Given the description of an element on the screen output the (x, y) to click on. 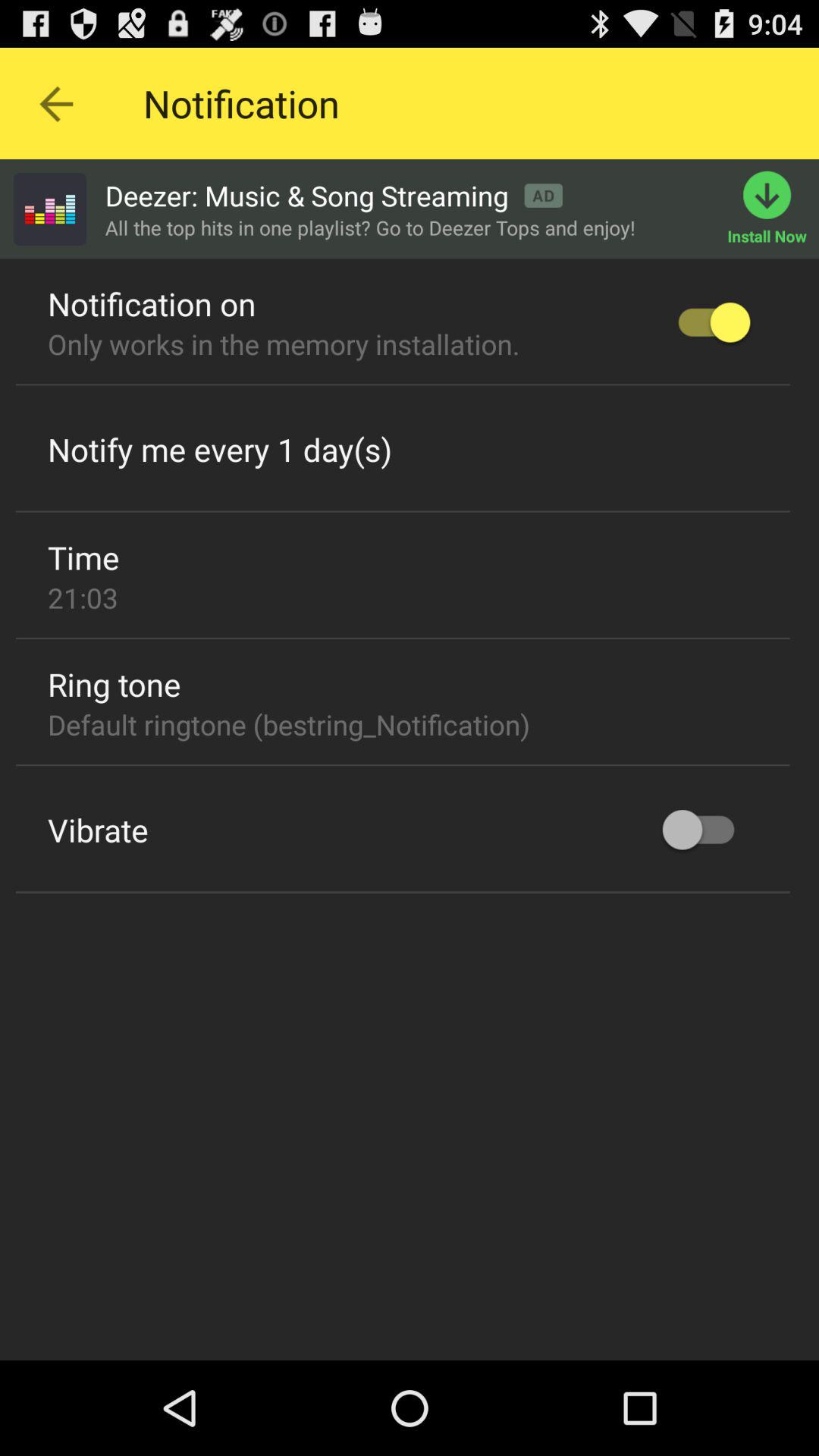
back (55, 103)
